Given the description of an element on the screen output the (x, y) to click on. 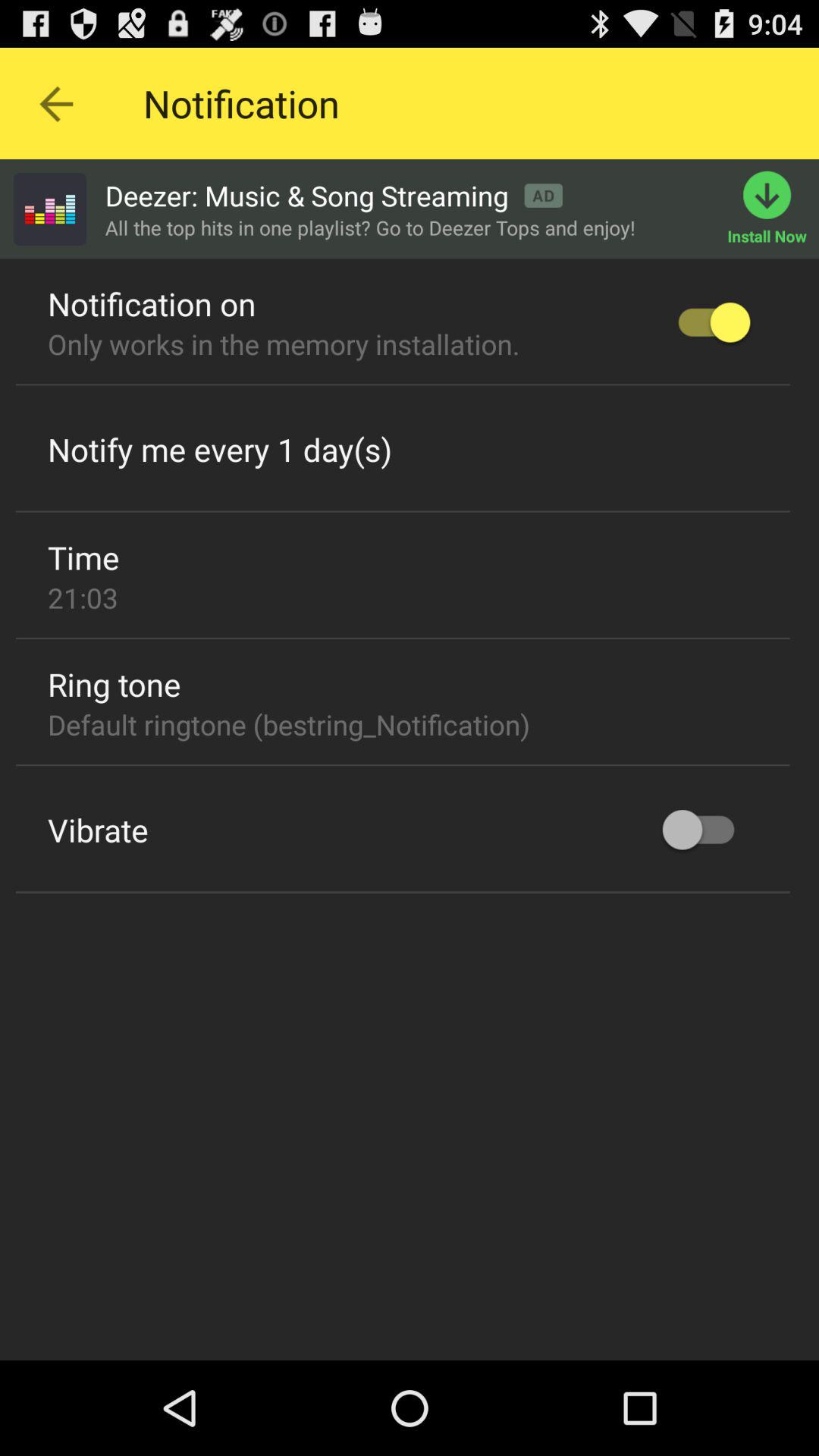
back (55, 103)
